Given the description of an element on the screen output the (x, y) to click on. 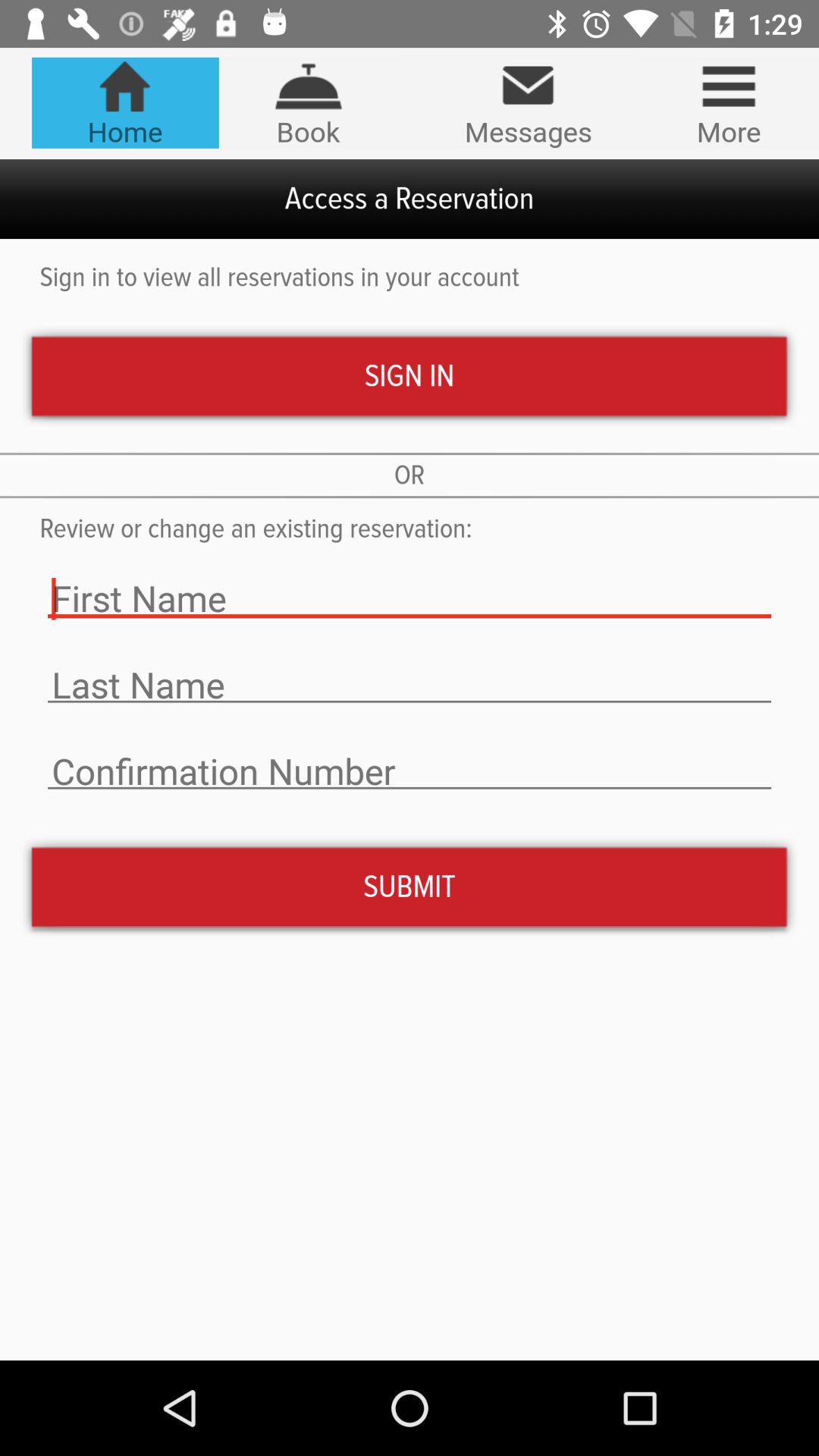
click icon next to more (528, 103)
